Given the description of an element on the screen output the (x, y) to click on. 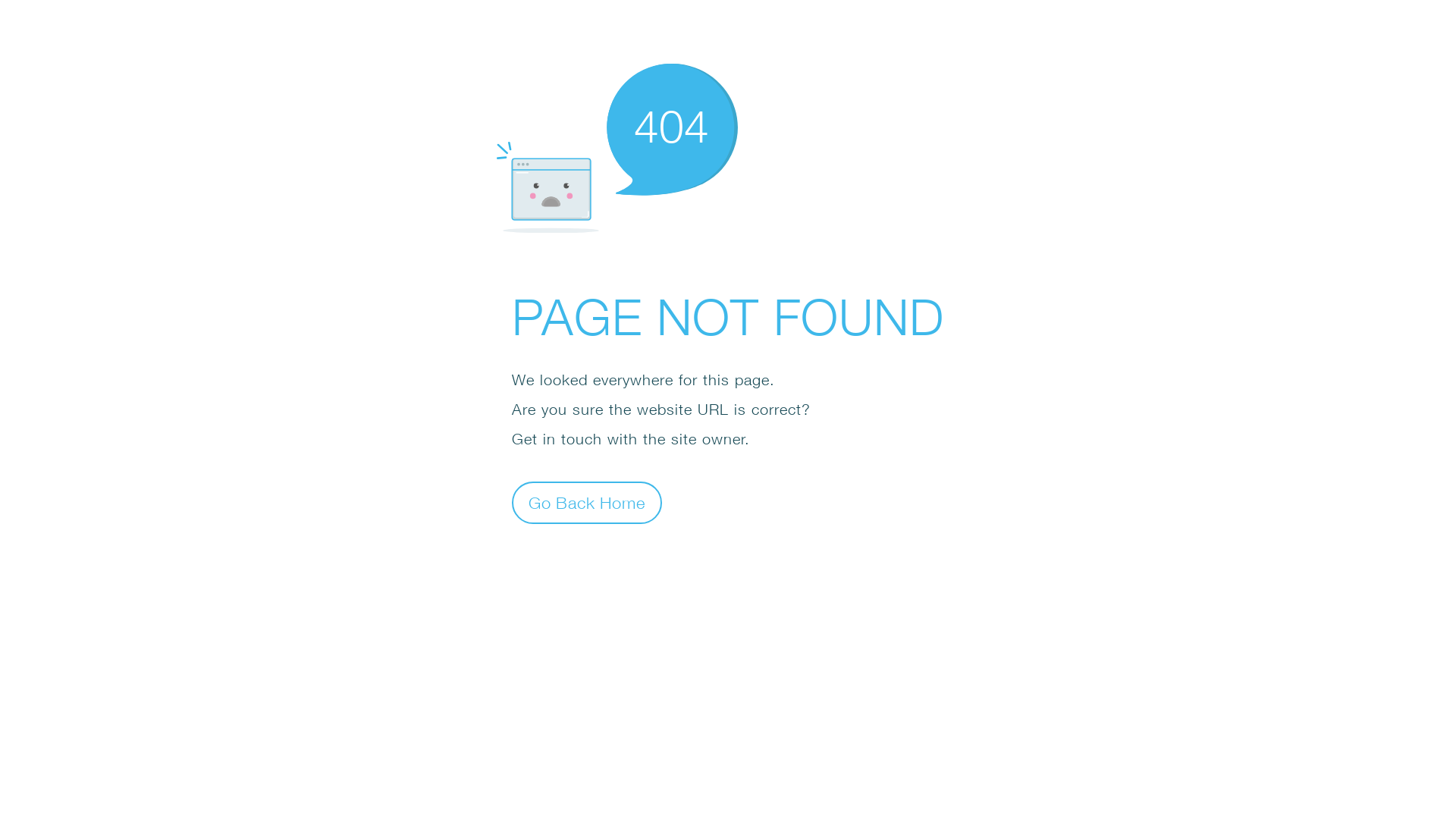
Go Back Home Element type: text (586, 502)
